Given the description of an element on the screen output the (x, y) to click on. 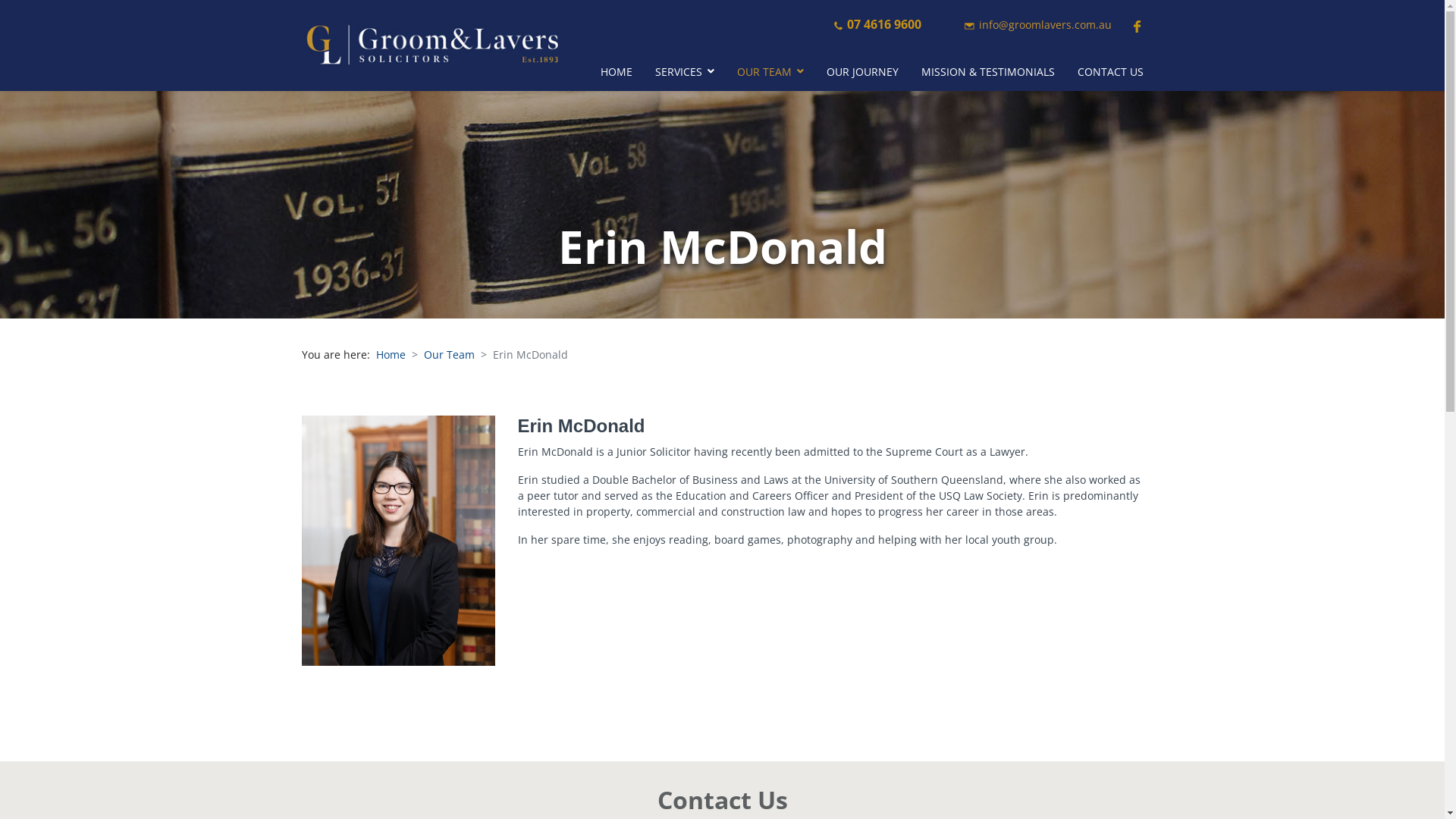
info@groomlavers.com.au Element type: text (1044, 24)
HOME Element type: text (615, 71)
Our Team Element type: text (448, 354)
OUR JOURNEY Element type: text (861, 71)
MISSION & TESTIMONIALS Element type: text (988, 71)
OUR TEAM Element type: text (769, 71)
Home Element type: text (390, 354)
SERVICES Element type: text (683, 71)
CONTACT US Element type: text (1110, 71)
